Given the description of an element on the screen output the (x, y) to click on. 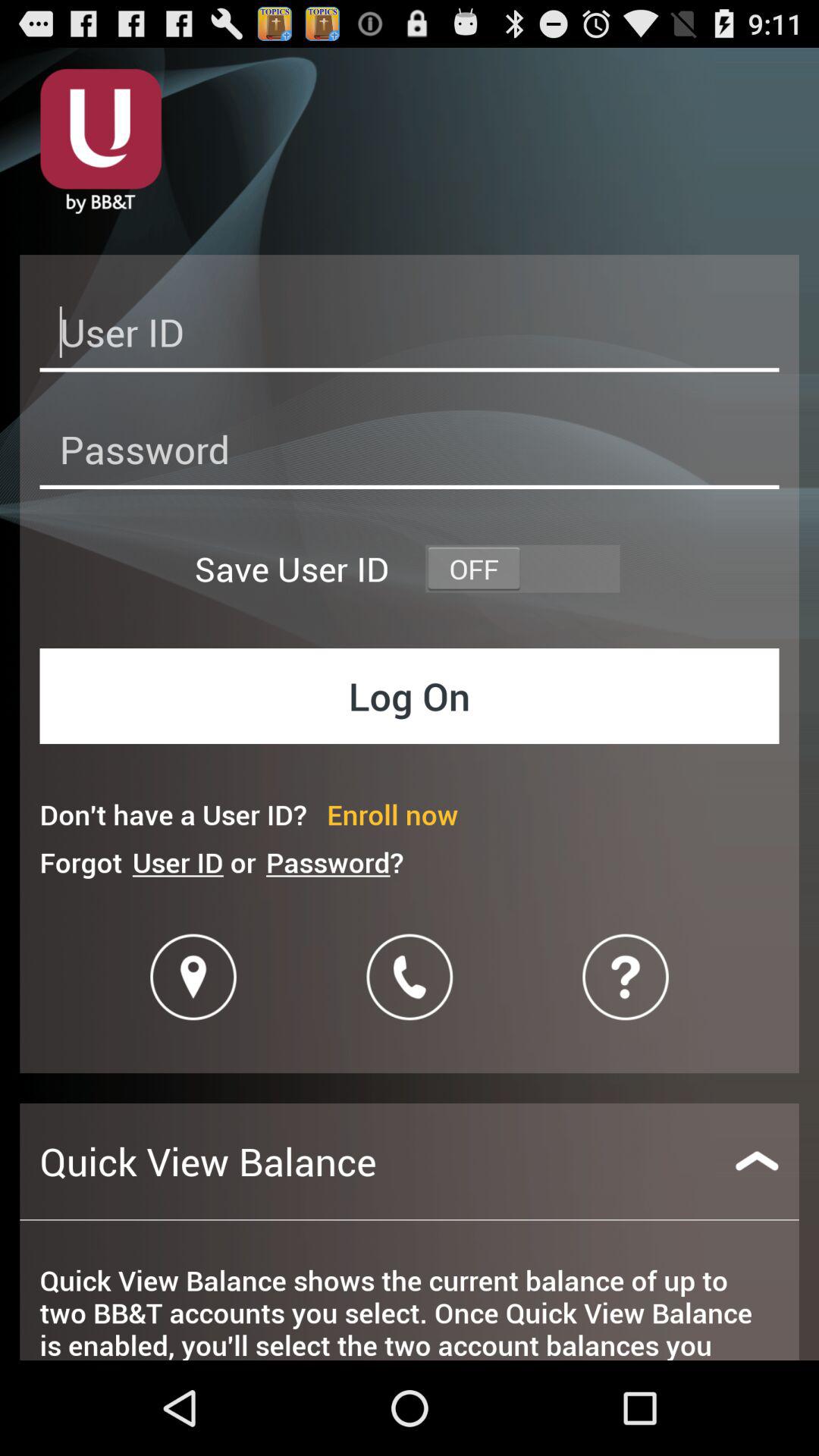
turn off item next to the user id or icon (334, 861)
